Given the description of an element on the screen output the (x, y) to click on. 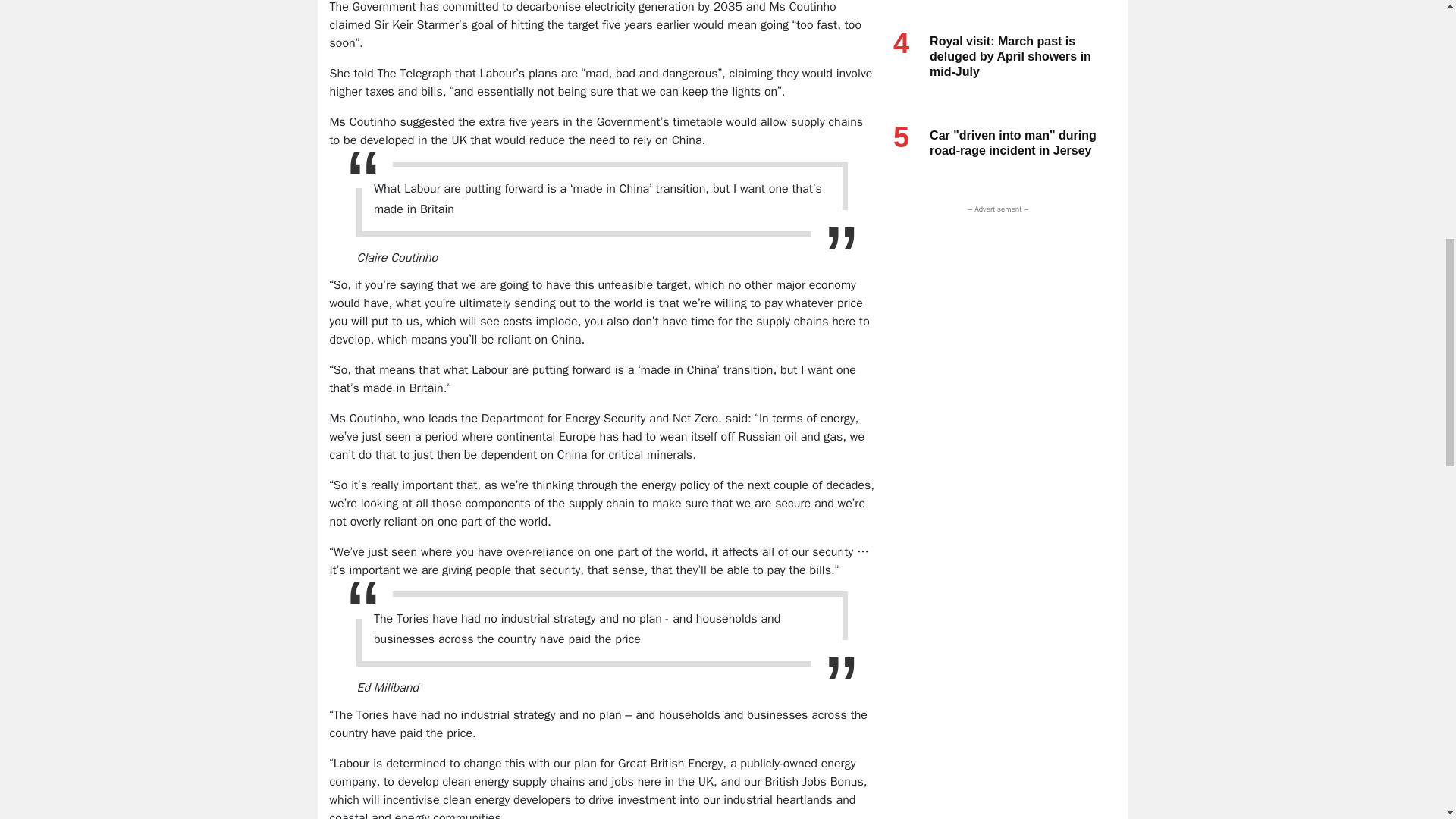
3rd party ad content (994, 311)
